Given the description of an element on the screen output the (x, y) to click on. 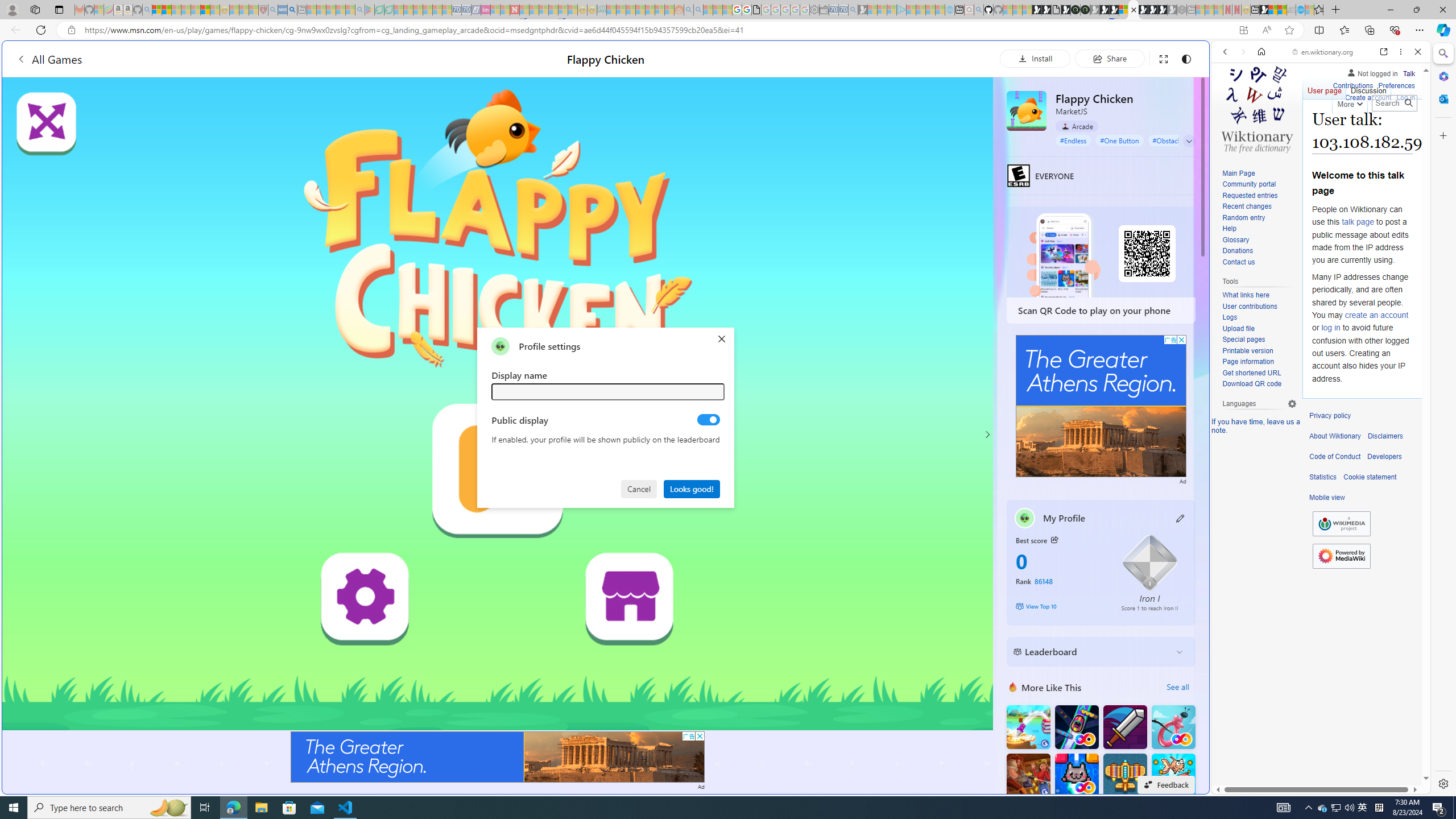
Log in (1405, 96)
Requested entries (1249, 194)
Close split screen (1208, 57)
Create account (1367, 96)
